Given the description of an element on the screen output the (x, y) to click on. 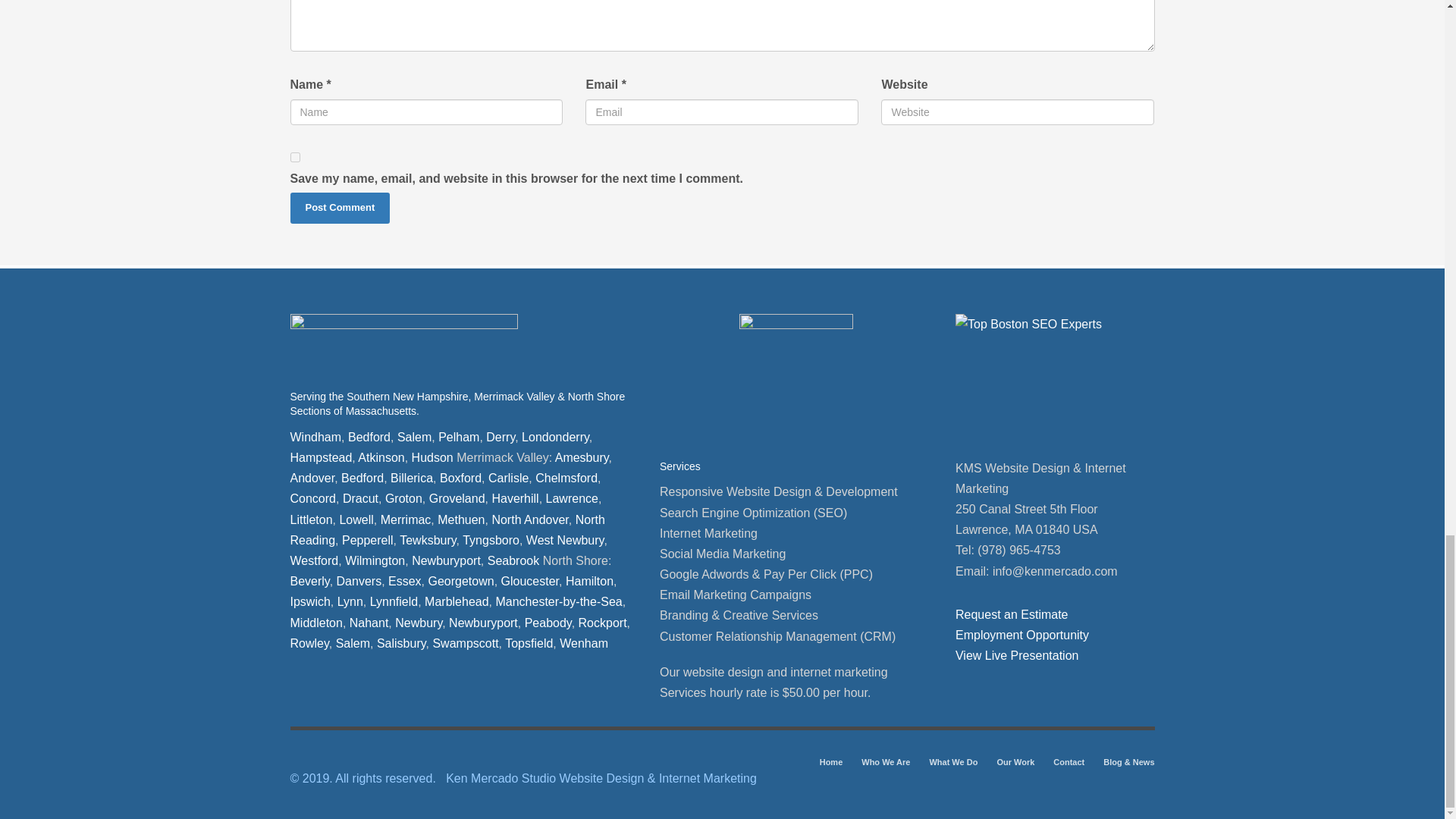
Windham (314, 436)
yes (294, 157)
Post Comment (339, 207)
Employment Opportunity (1022, 634)
Request an Estimate (1011, 614)
View Live Presentation (1016, 655)
Post Comment (339, 207)
